Given the description of an element on the screen output the (x, y) to click on. 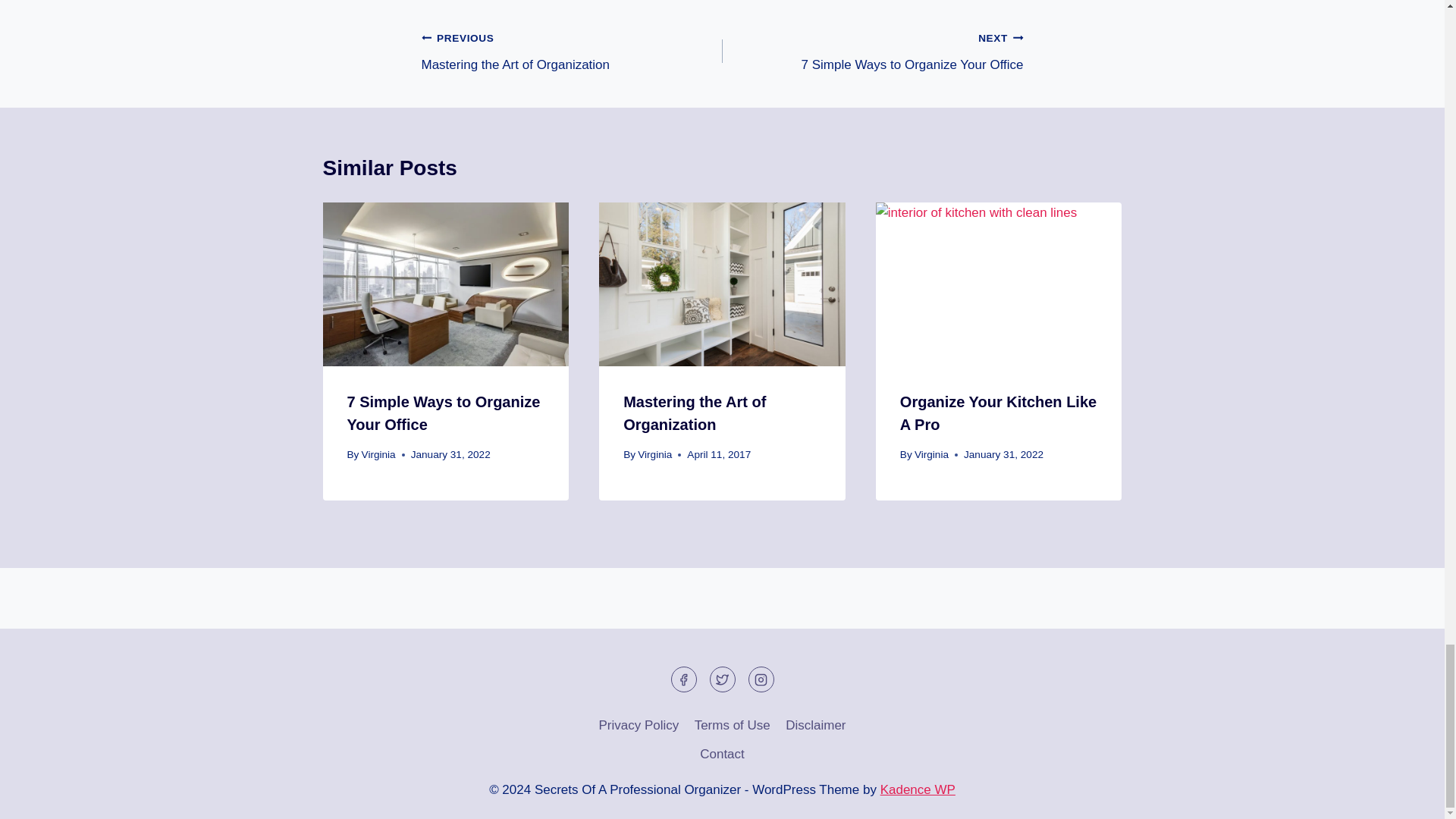
Disclaimer (872, 51)
Virginia (815, 725)
Mastering the Art of Organization (572, 51)
Kadence WP (931, 454)
Terms of Use (694, 413)
Virginia (917, 789)
Virginia (731, 725)
7 Simple Ways to Organize Your Office (378, 454)
